Given the description of an element on the screen output the (x, y) to click on. 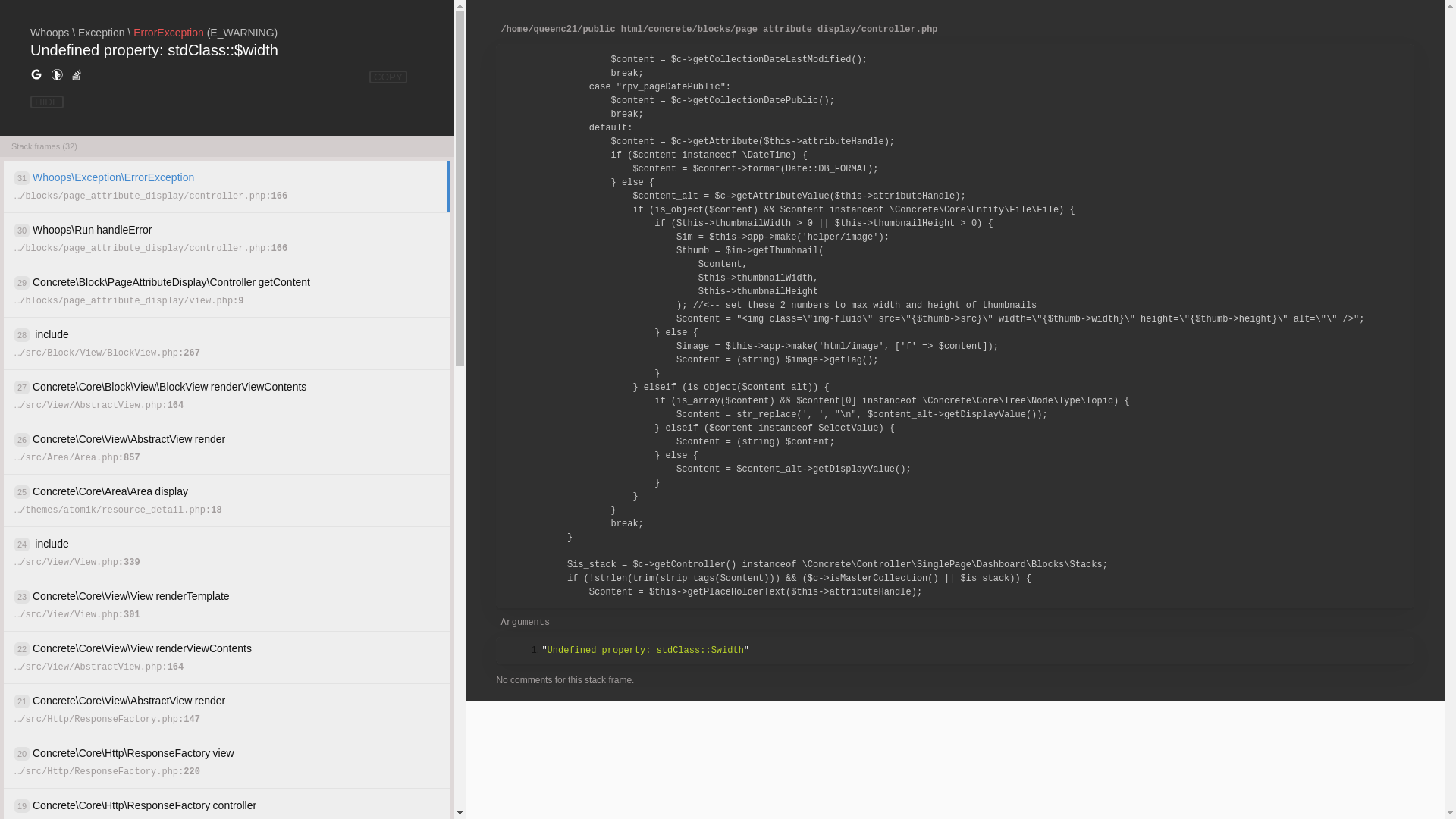
Search for help on Stack Overflow. Element type: hover (76, 74)
Search for help on Google. Element type: hover (36, 74)
COPY Element type: text (388, 76)
Search for help on DuckDuckGo. Element type: hover (56, 74)
HIDE Element type: text (46, 101)
